Given the description of an element on the screen output the (x, y) to click on. 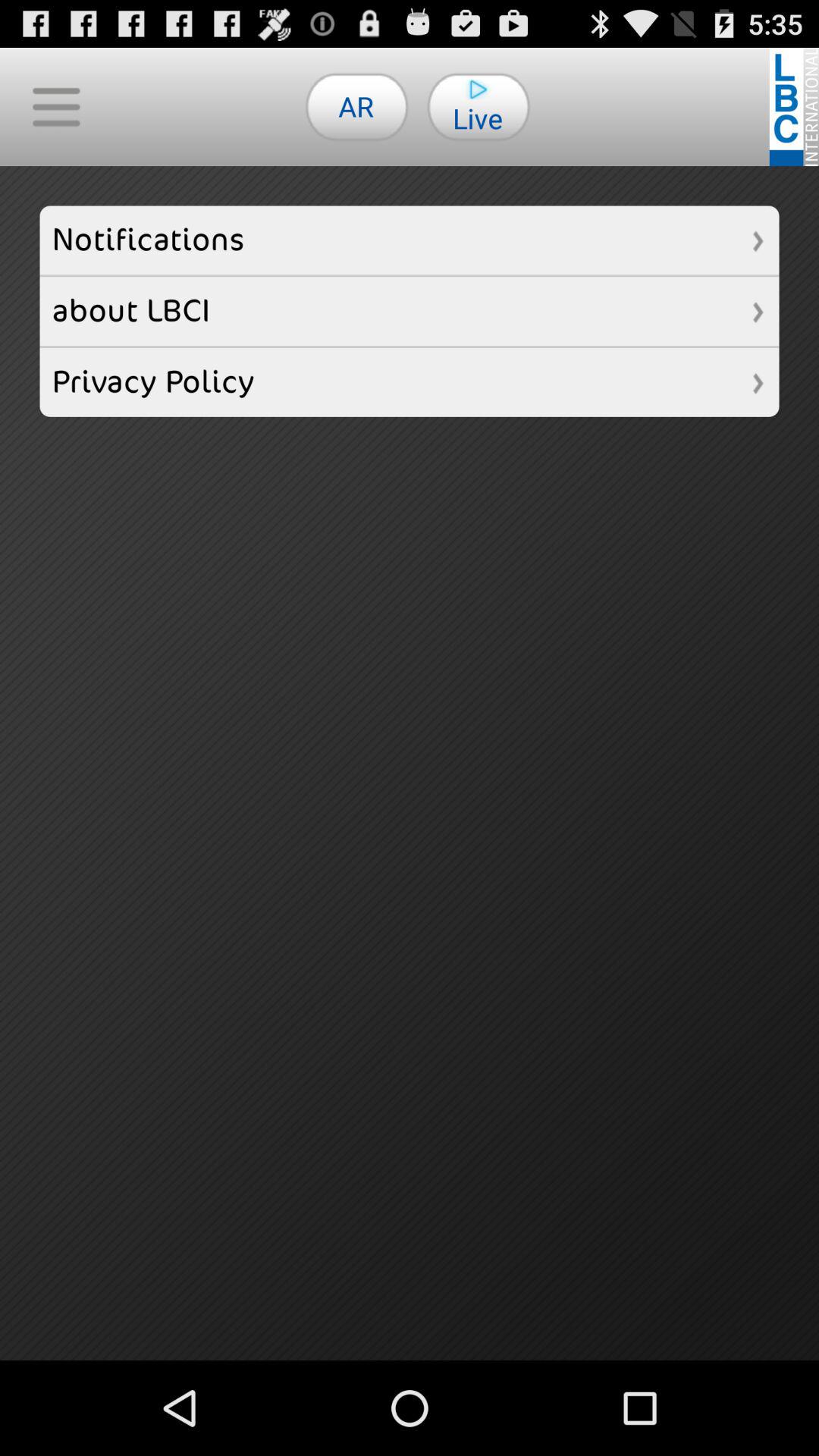
press button above the notifications (55, 106)
